Given the description of an element on the screen output the (x, y) to click on. 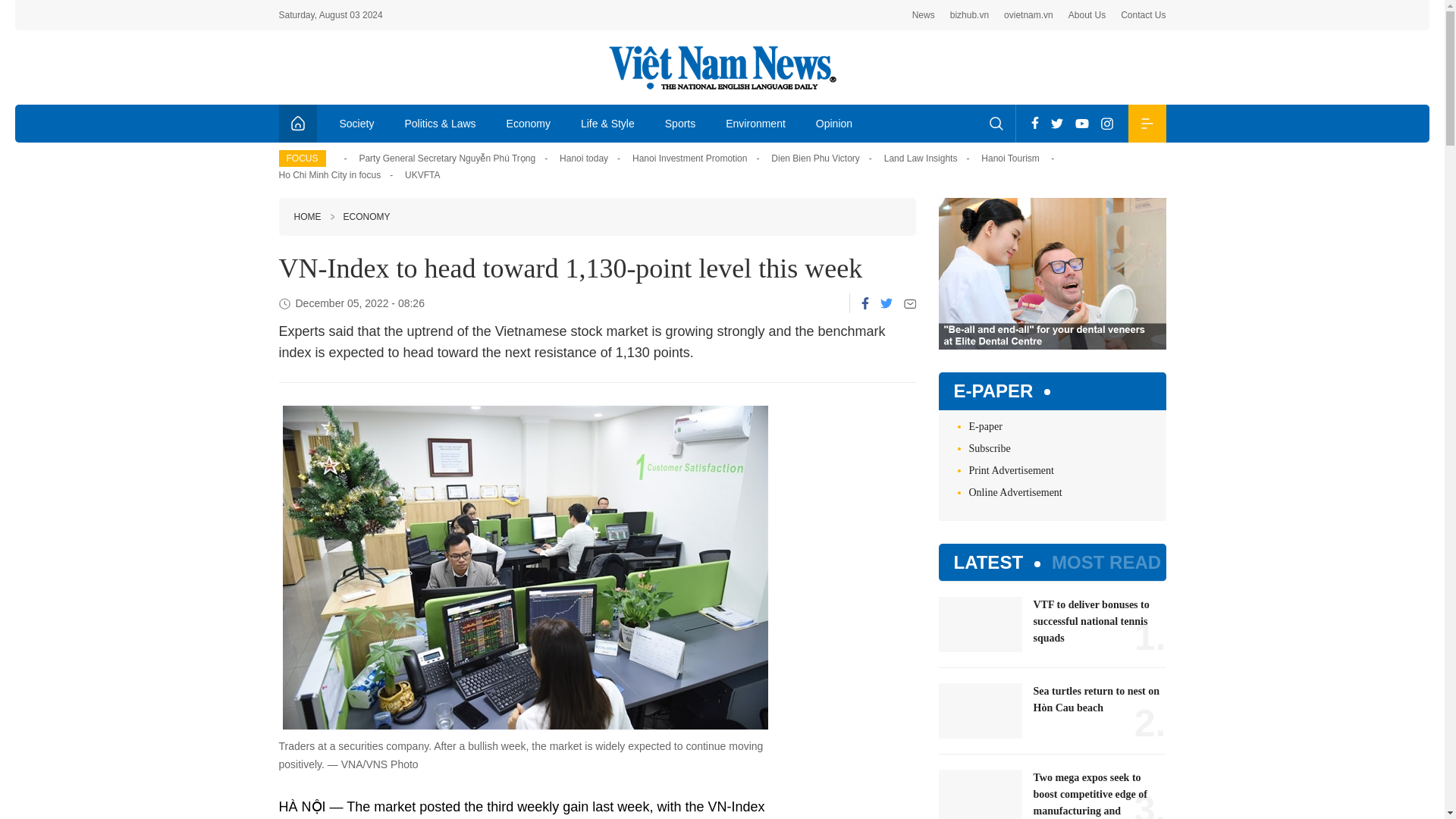
News (923, 15)
Sports (679, 123)
Facebook (1035, 123)
Instagram (1106, 123)
Opinion (833, 123)
Twitter (885, 303)
bizhub.vn (969, 15)
Twitter (1056, 122)
About Us (1086, 15)
Email (909, 303)
Society (357, 123)
Contact Us (1143, 15)
Youtube (1081, 122)
Economy (529, 123)
ovietnam.vn (1028, 15)
